Given the description of an element on the screen output the (x, y) to click on. 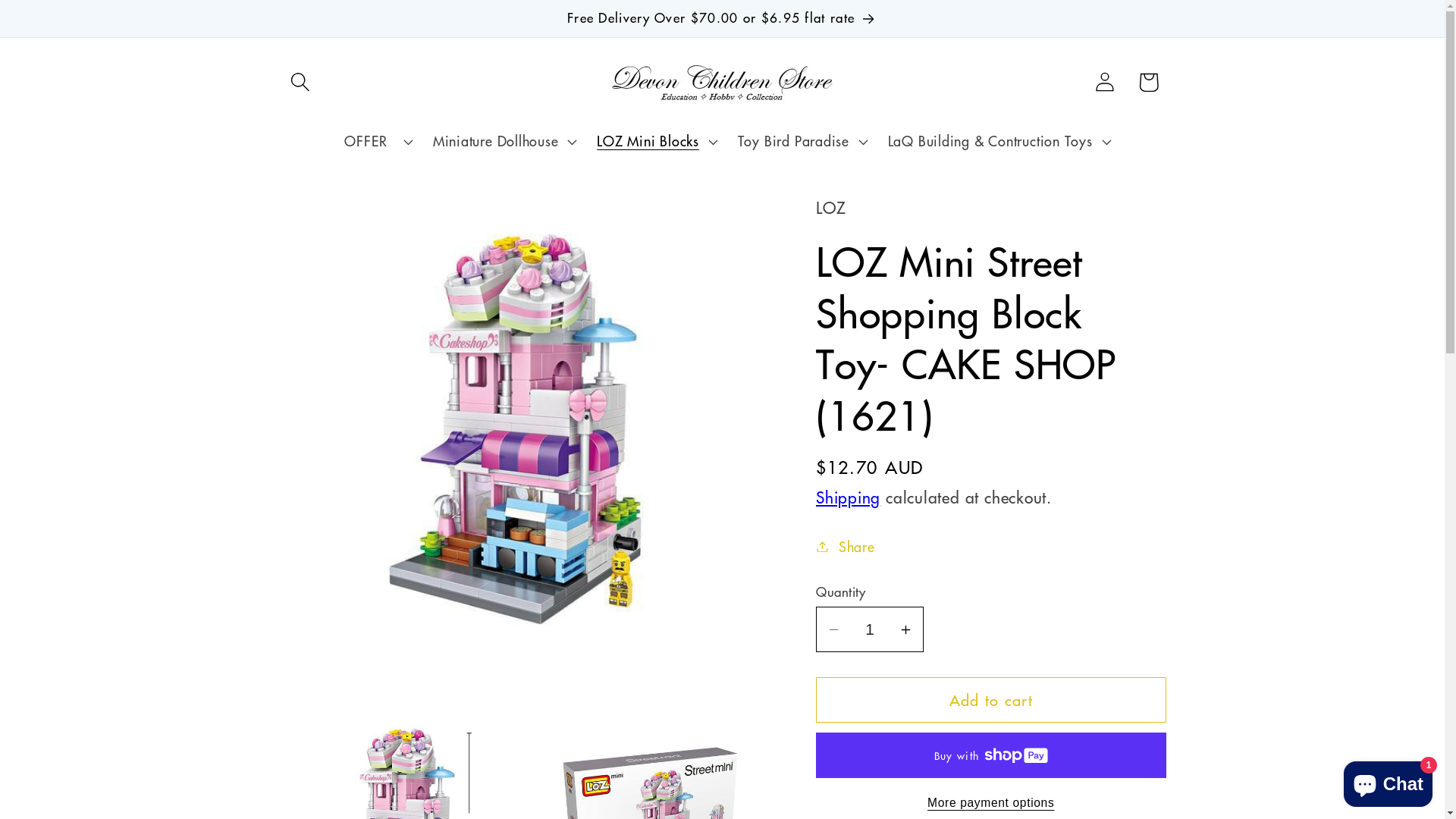
Free Delivery Over $70.00 or $6.95 flat rate Element type: text (722, 18)
More payment options Element type: text (990, 802)
Skip to product information Element type: text (337, 217)
Add to cart Element type: text (990, 700)
Shopify online store chat Element type: hover (1388, 780)
Log in Element type: text (1104, 81)
Cart Element type: text (1148, 81)
Shipping Element type: text (847, 497)
